Given the description of an element on the screen output the (x, y) to click on. 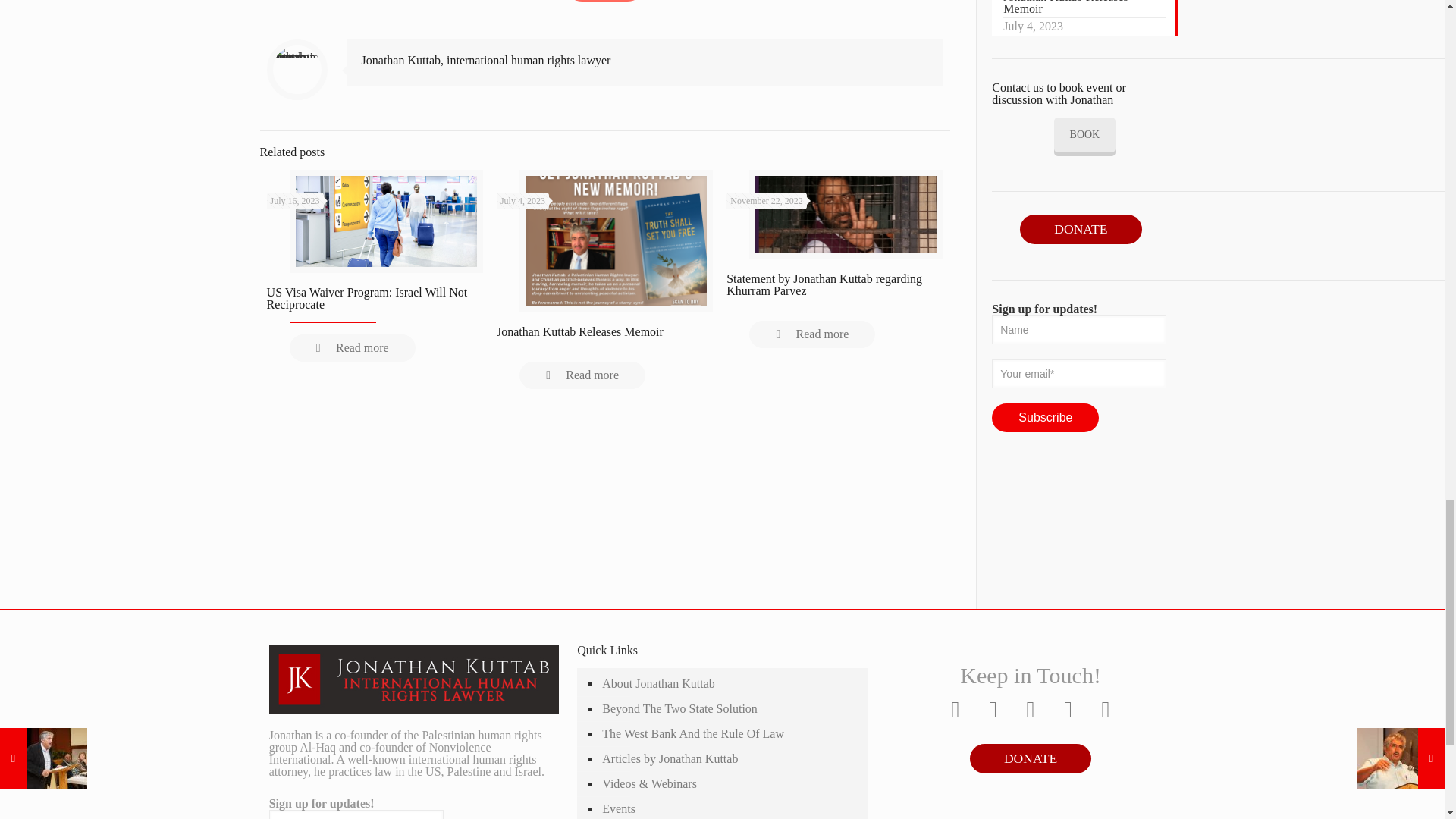
Subscribe (1045, 417)
